Given the description of an element on the screen output the (x, y) to click on. 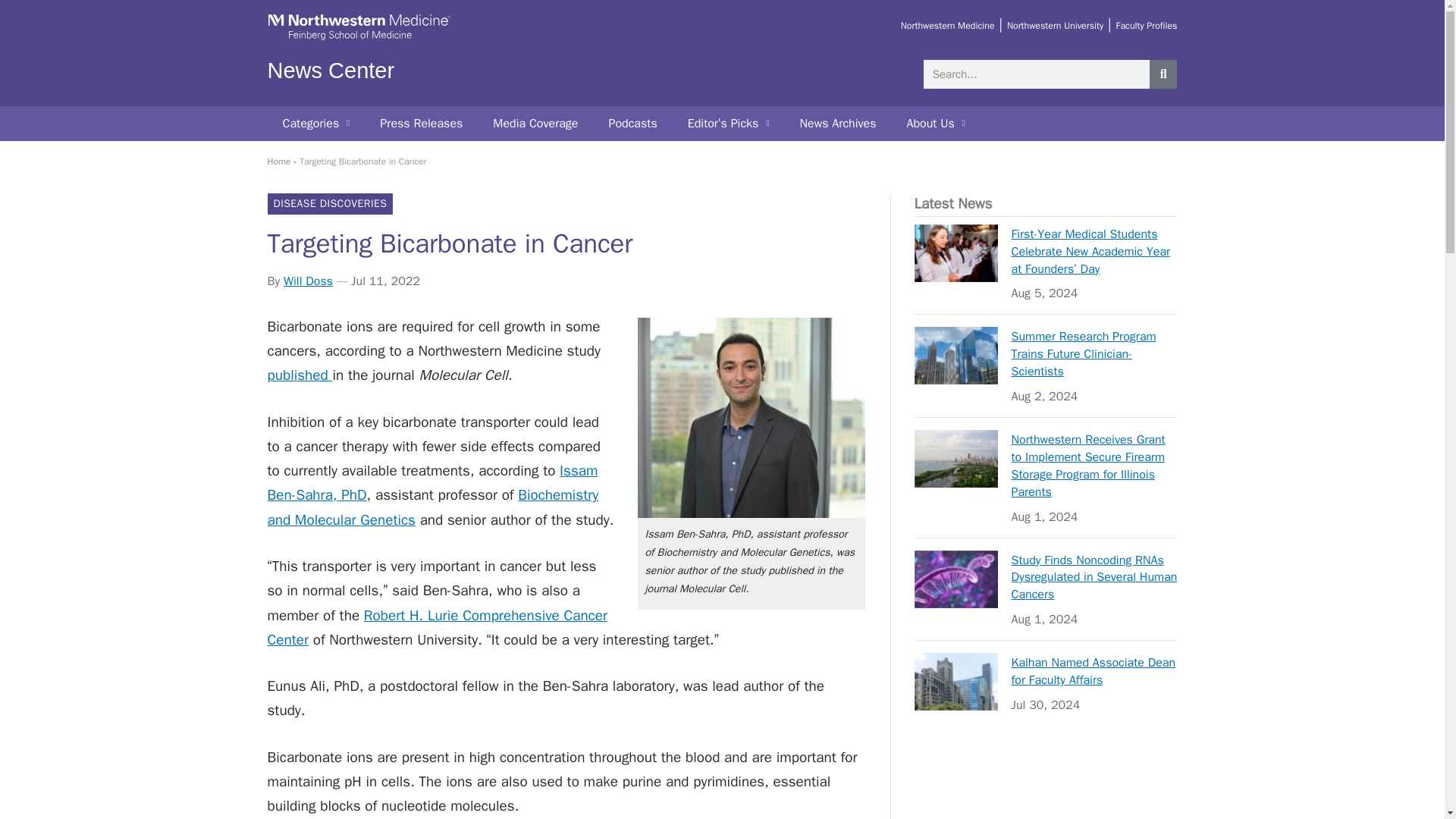
Kalhan Named Associate Dean for Faculty Affairs (955, 681)
Categories (315, 123)
Northwestern Medicine (947, 25)
Feinberg (357, 38)
News Archives (837, 123)
Press Releases (421, 123)
Podcasts (631, 123)
Faculty Profiles (1145, 25)
News Center (330, 70)
Summer Research Program Trains Future Clinician-Scientists (955, 355)
Northwestern University (1055, 25)
Media Coverage (534, 123)
About Us (935, 123)
